Given the description of an element on the screen output the (x, y) to click on. 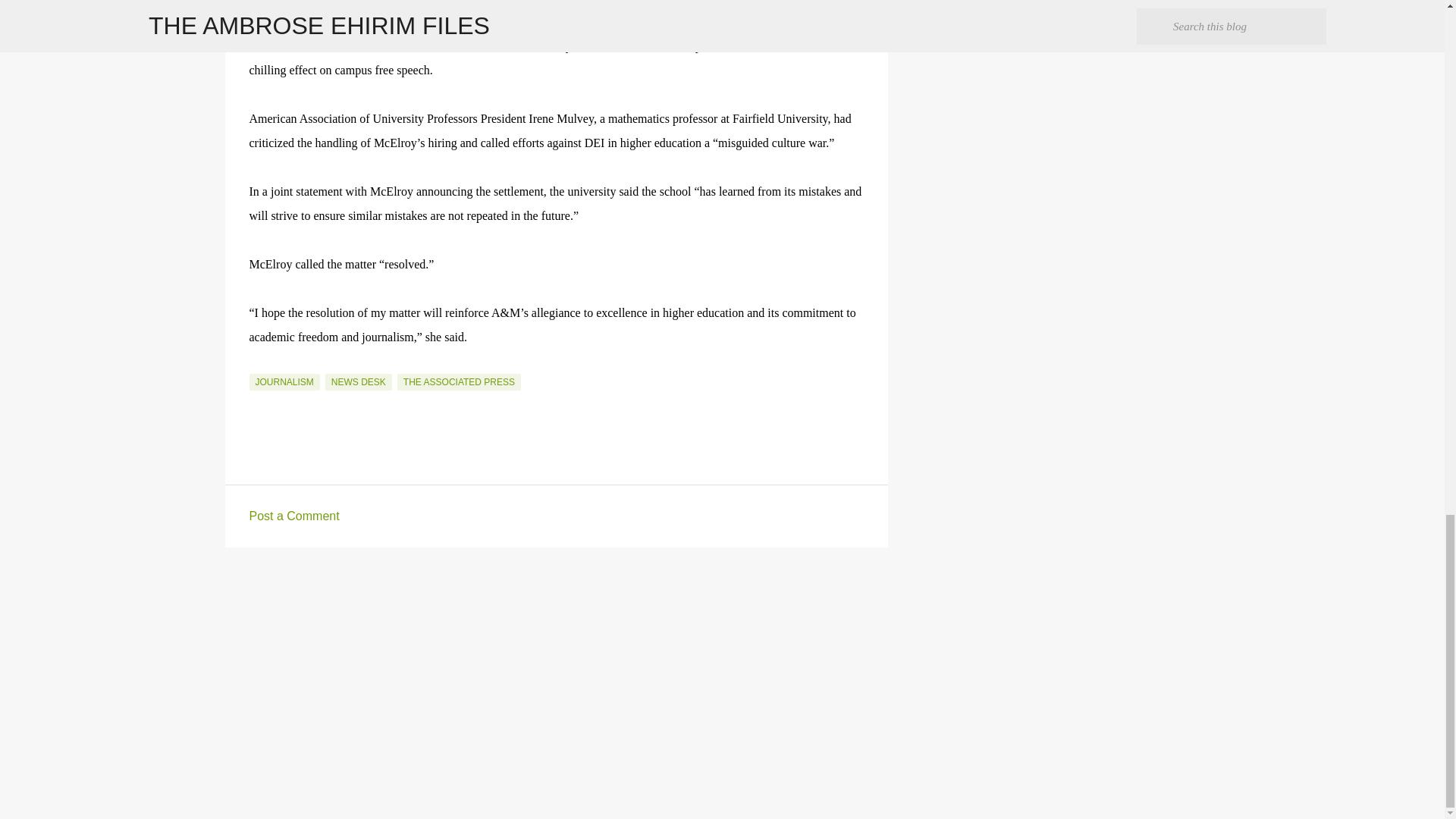
JOURNALISM (283, 381)
Post a Comment (293, 515)
Email Post (257, 364)
NEWS DESK (357, 381)
THE ASSOCIATED PRESS (459, 381)
